Given the description of an element on the screen output the (x, y) to click on. 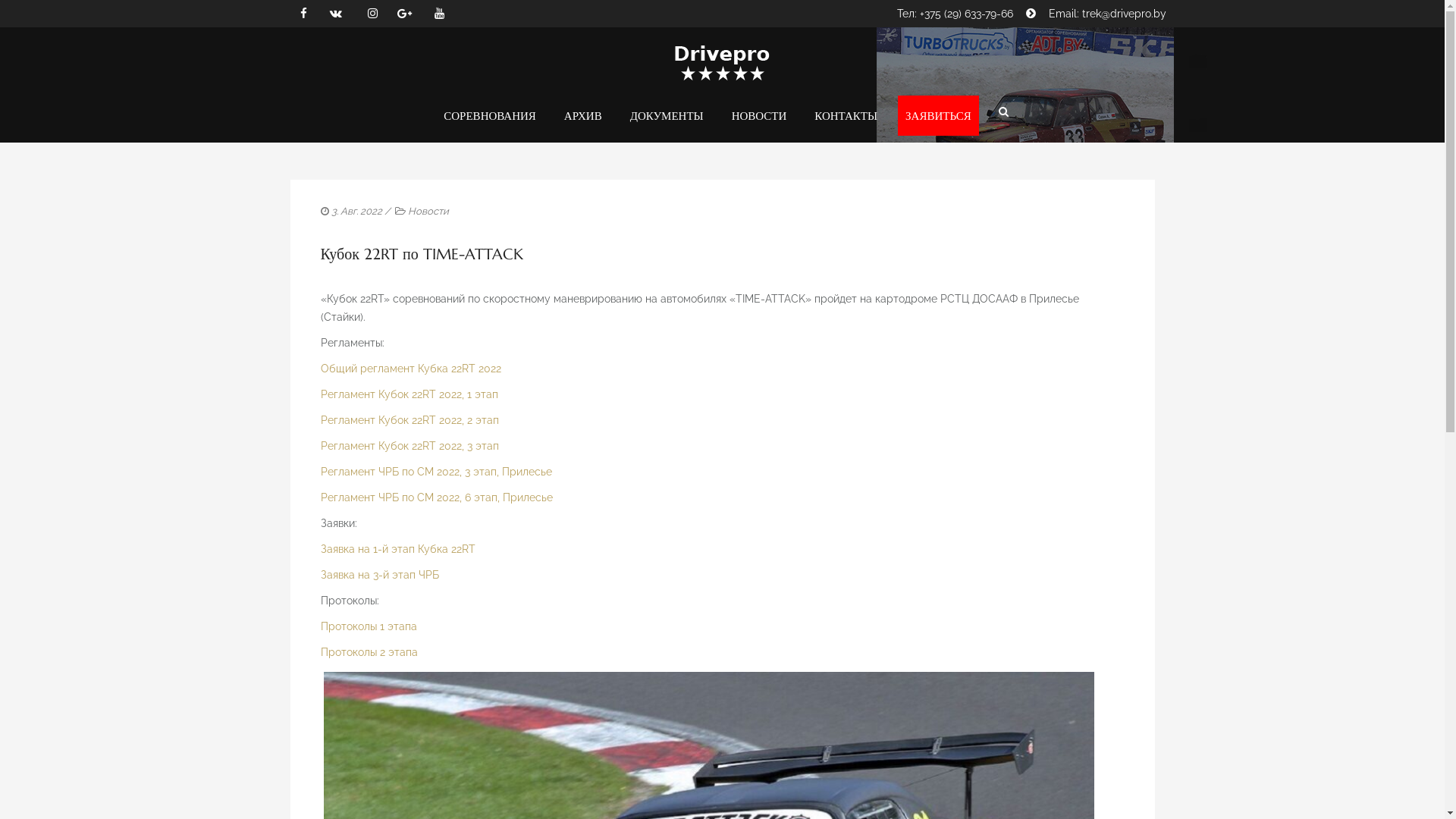
Email: trek@drivepro.by Element type: text (1106, 13)
